Given the description of an element on the screen output the (x, y) to click on. 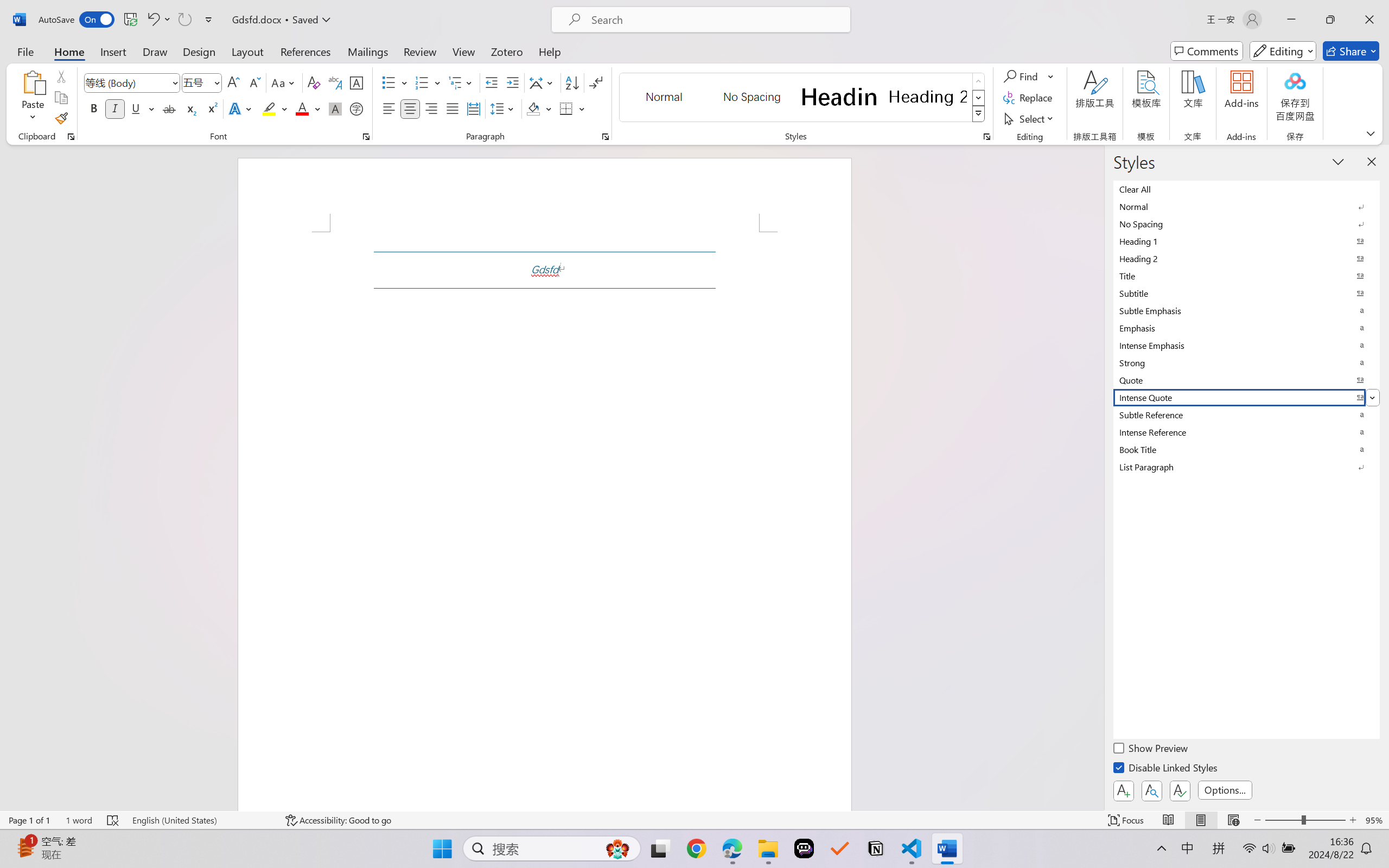
Clear All (1246, 188)
Cut (60, 75)
Undo Style (158, 19)
Shading RGB(0, 0, 0) (533, 108)
Grow Font (233, 82)
Shading (539, 108)
Task Pane Options (1338, 161)
